Given the description of an element on the screen output the (x, y) to click on. 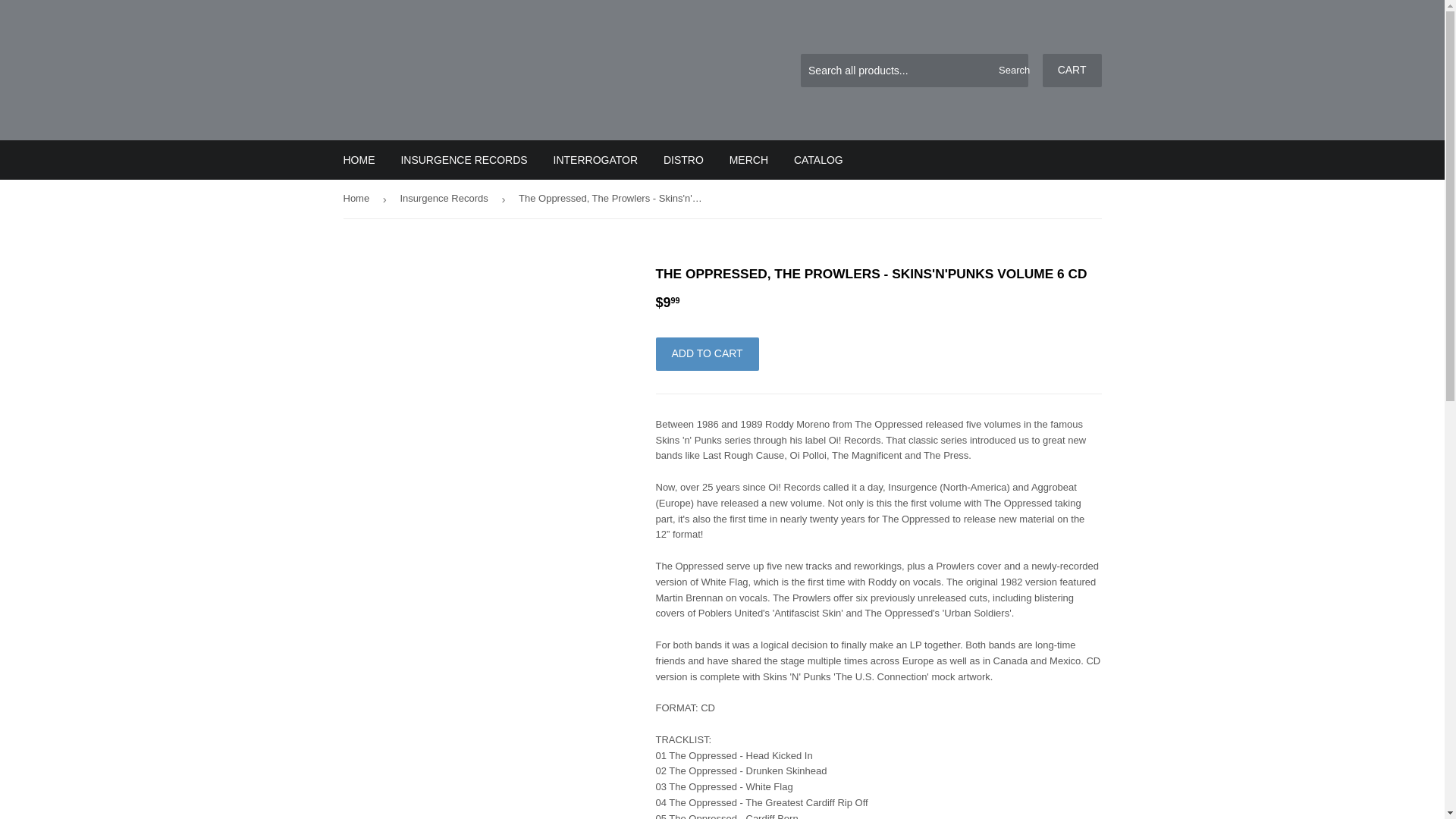
CART (1072, 69)
Search (1010, 70)
